Given the description of an element on the screen output the (x, y) to click on. 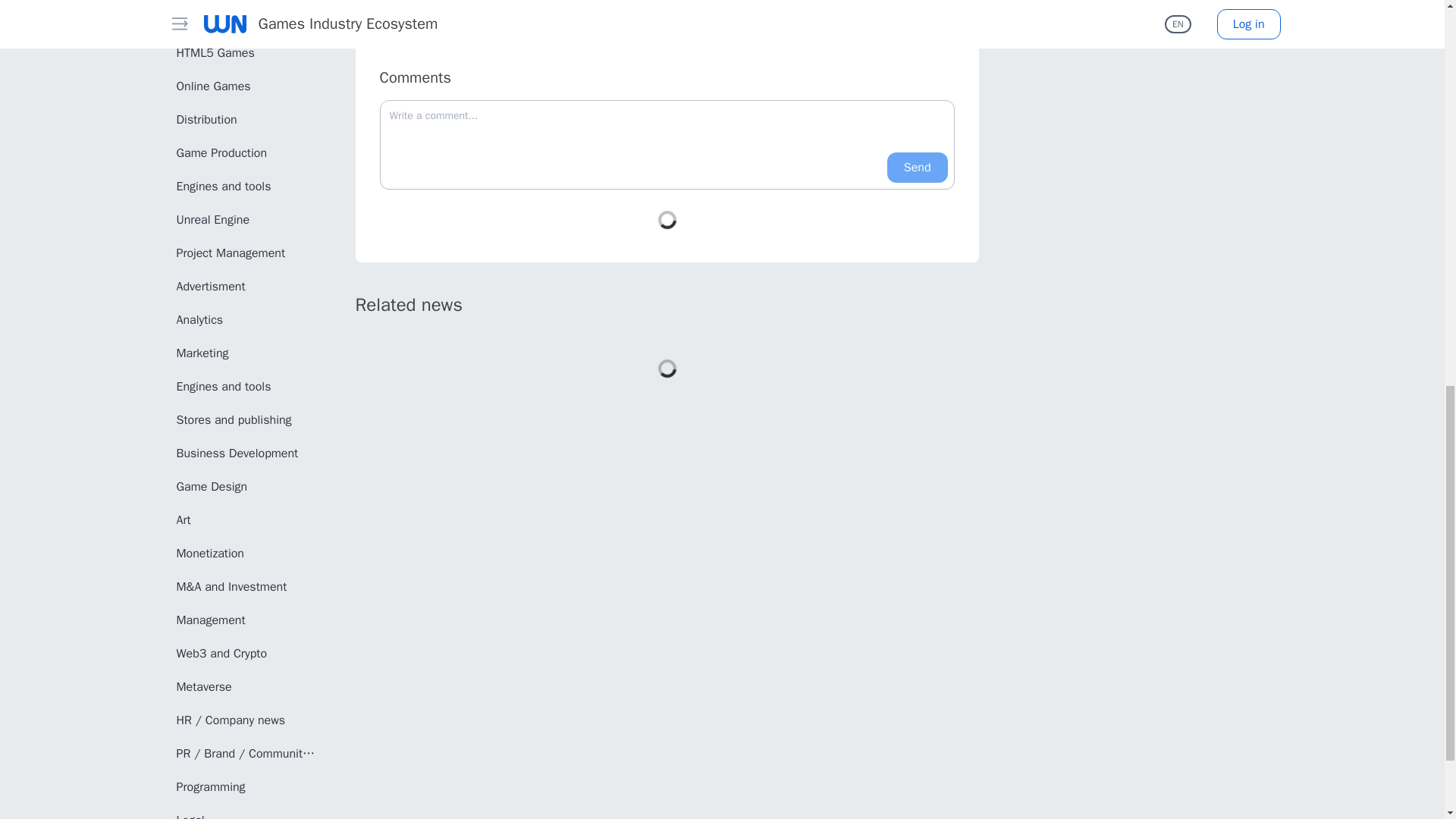
Distribution (246, 119)
Unreal Engine (246, 219)
Advertisment (246, 286)
Game Production (246, 153)
Engines and tools (246, 186)
HTML5 Games (246, 52)
Sound Design (246, 19)
Project Management (246, 253)
Analytics (246, 319)
Marketing (246, 353)
Online Games (246, 86)
